Given the description of an element on the screen output the (x, y) to click on. 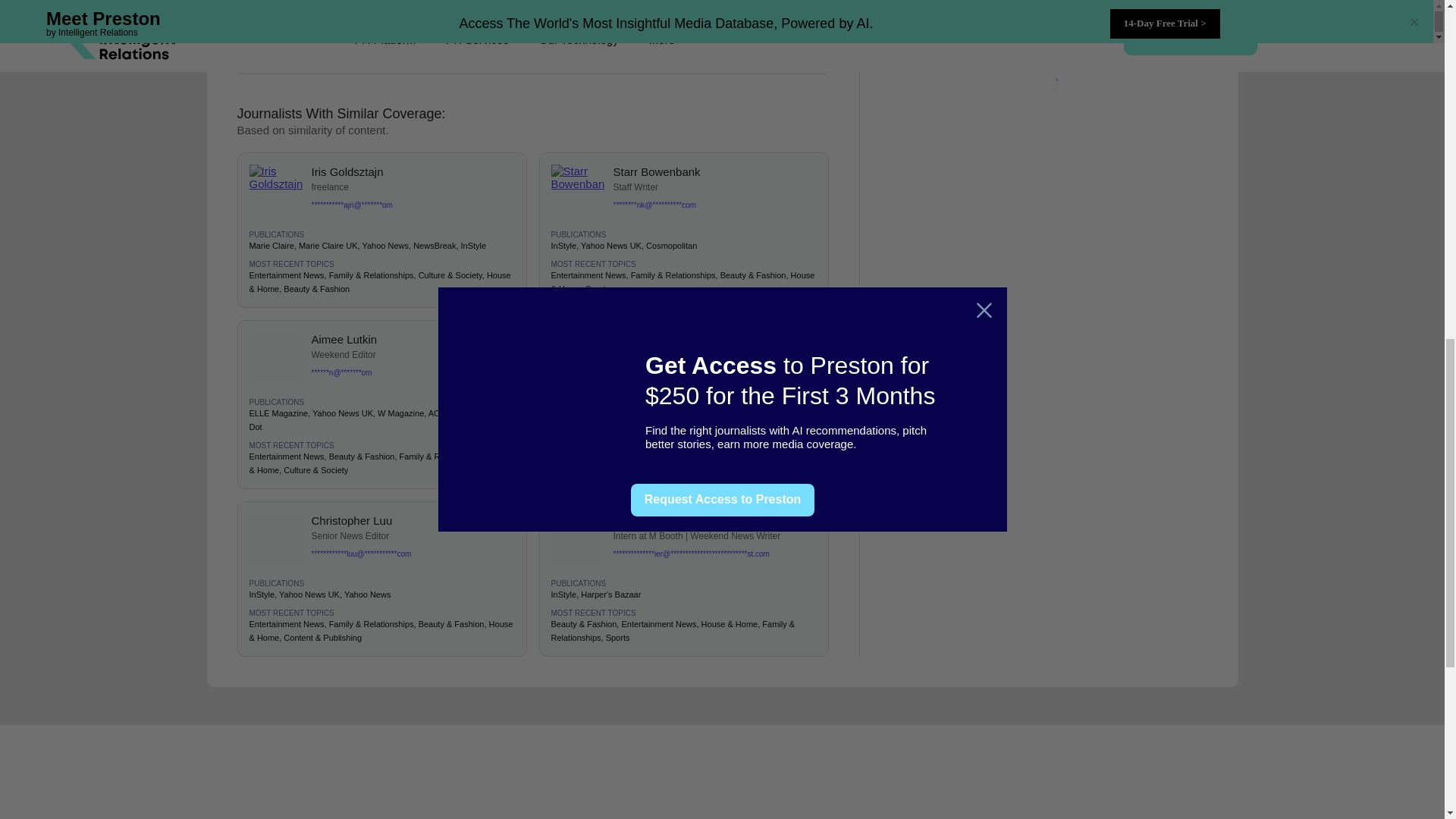
Starr Bowenbank (713, 171)
InStyle (563, 245)
Improve this profile (655, 56)
NewsBreak (434, 245)
InStyle (473, 245)
Marie Claire (271, 245)
Marie Claire UK (328, 245)
Iris Goldsztajn (412, 171)
Yahoo News (385, 245)
